Given the description of an element on the screen output the (x, y) to click on. 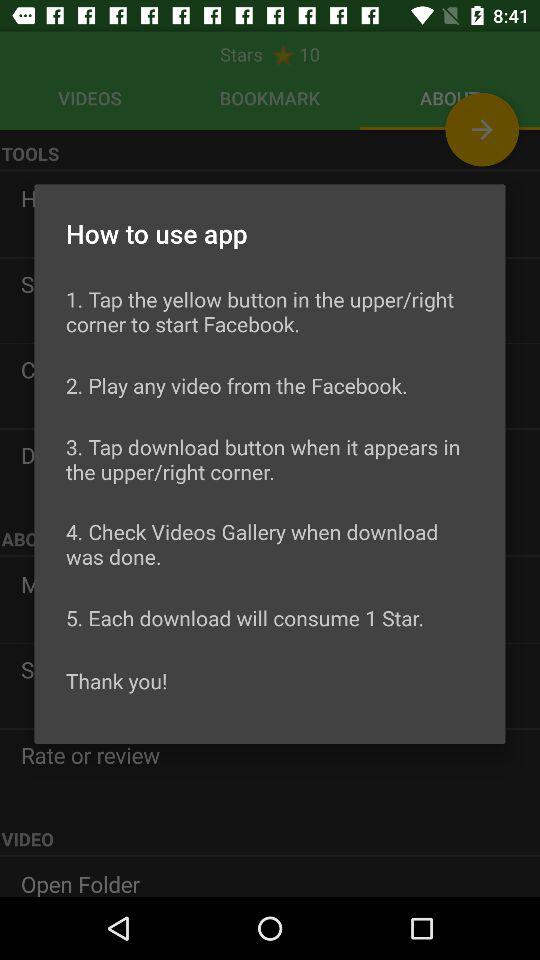
scroll to thank you! icon (116, 680)
